Given the description of an element on the screen output the (x, y) to click on. 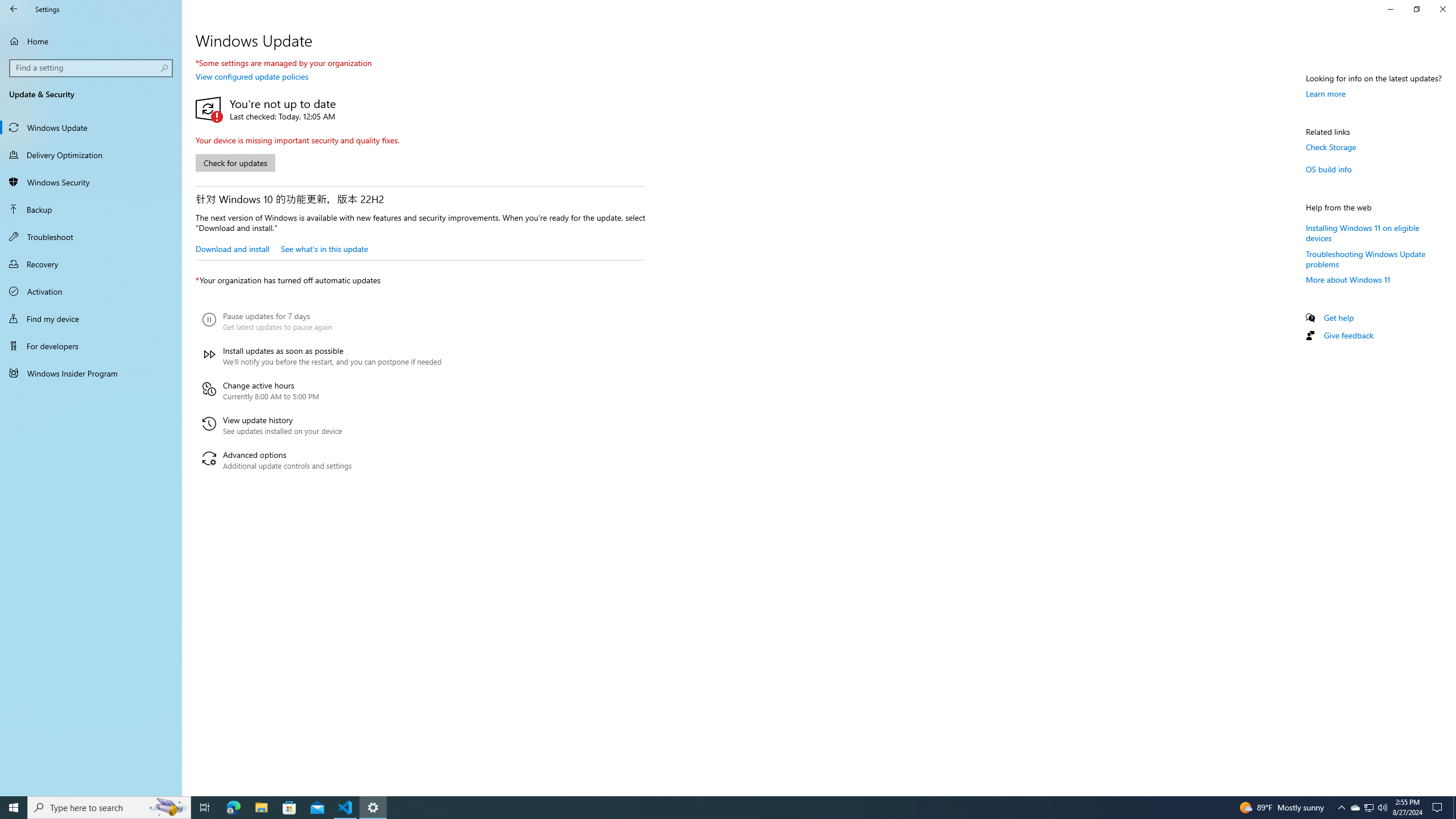
Close Settings (1355, 807)
Advanced options (1442, 9)
Running applications (321, 460)
Download and install (717, 807)
Find my device (232, 248)
Back (91, 318)
File Explorer (13, 9)
Type here to search (261, 807)
More about Windows 11 (108, 807)
View update history (1348, 279)
For developers (321, 425)
Show desktop (91, 345)
Check Storage (1454, 807)
